Given the description of an element on the screen output the (x, y) to click on. 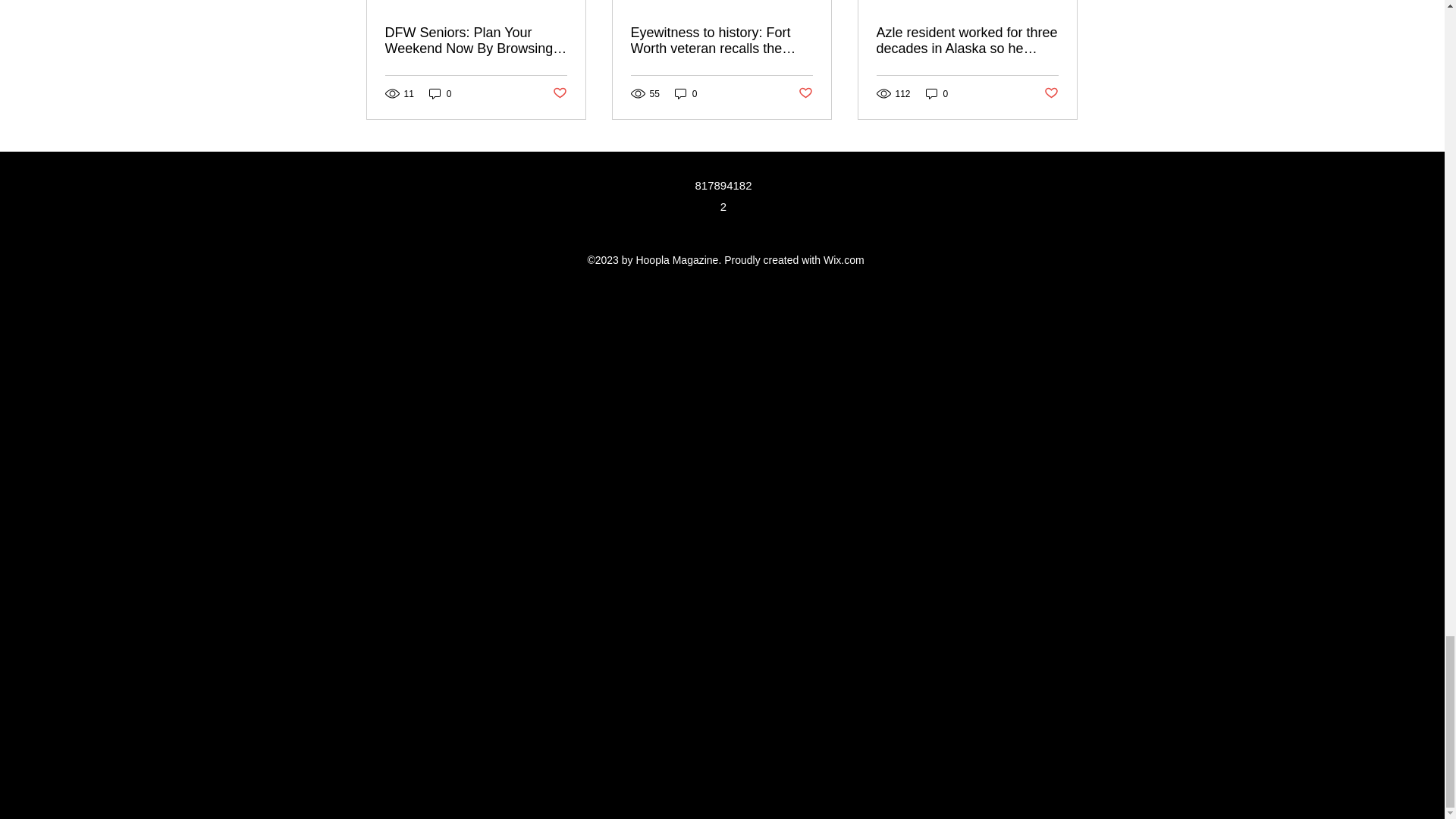
Post not marked as liked (1050, 93)
0 (440, 93)
Post not marked as liked (558, 93)
0 (937, 93)
Post not marked as liked (804, 93)
0 (685, 93)
